Given the description of an element on the screen output the (x, y) to click on. 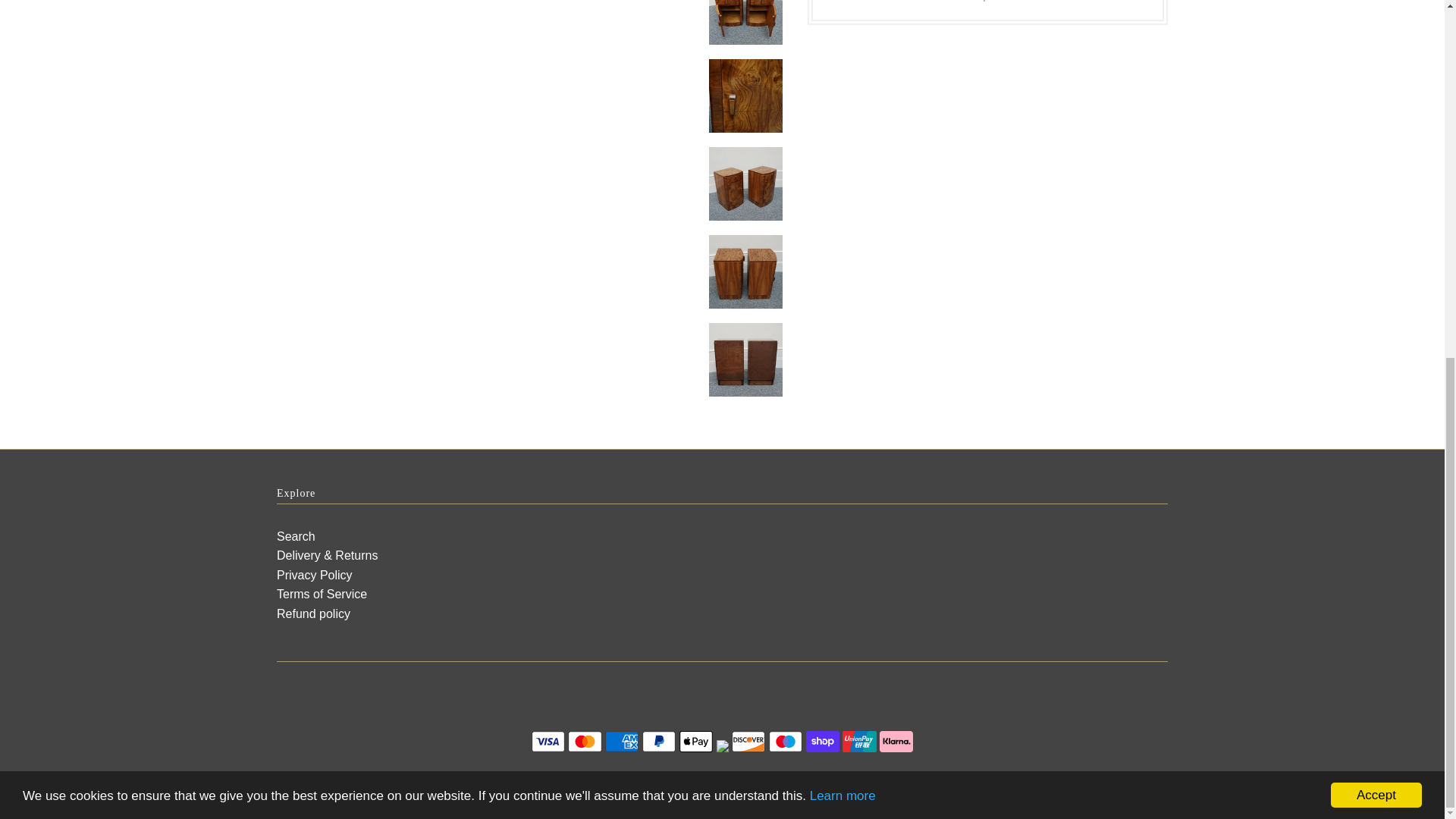
Pair of Bedside Cabinets (489, 17)
